Given the description of an element on the screen output the (x, y) to click on. 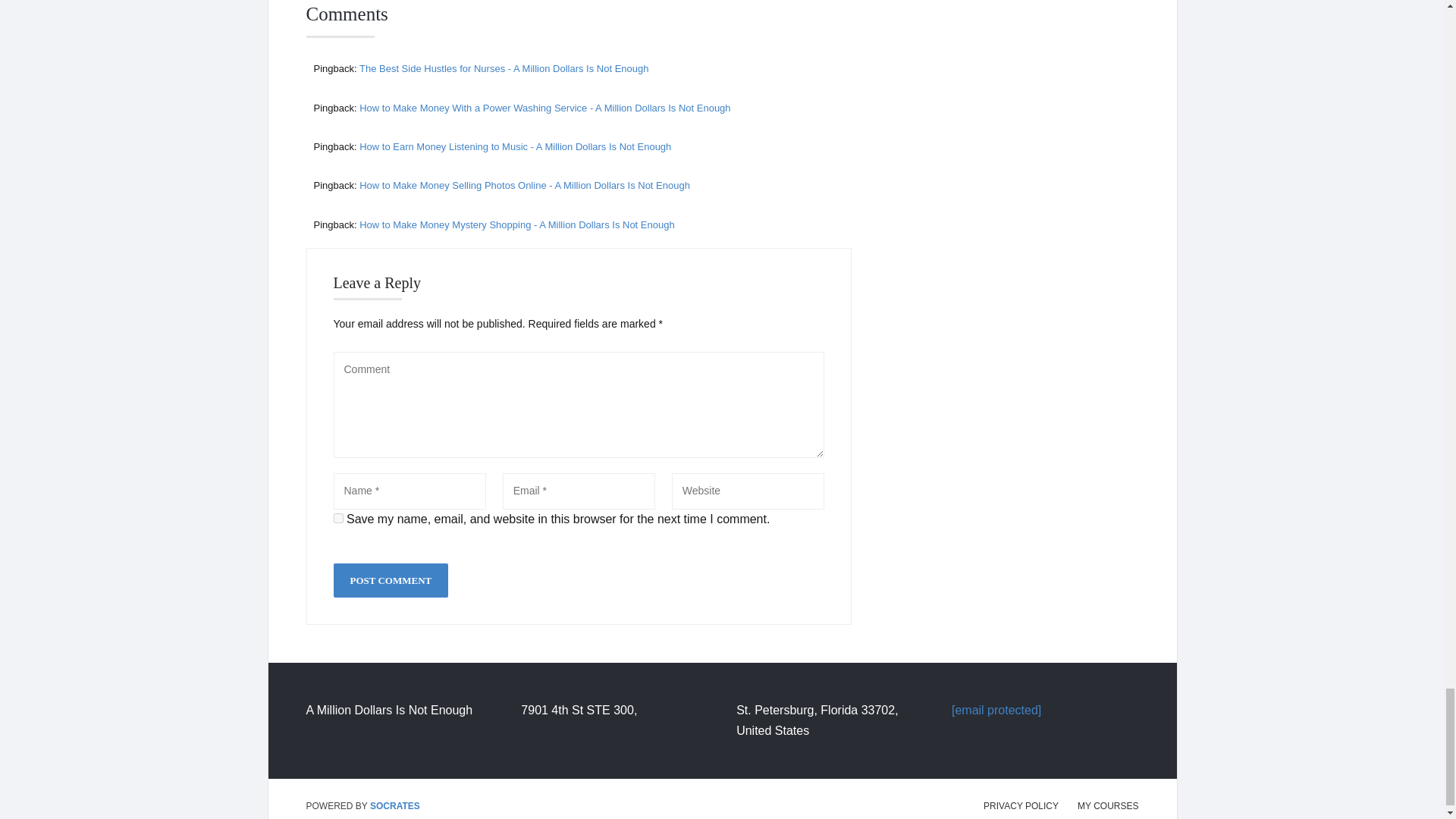
Post Comment (390, 580)
Post Comment (390, 580)
yes (338, 518)
